Given the description of an element on the screen output the (x, y) to click on. 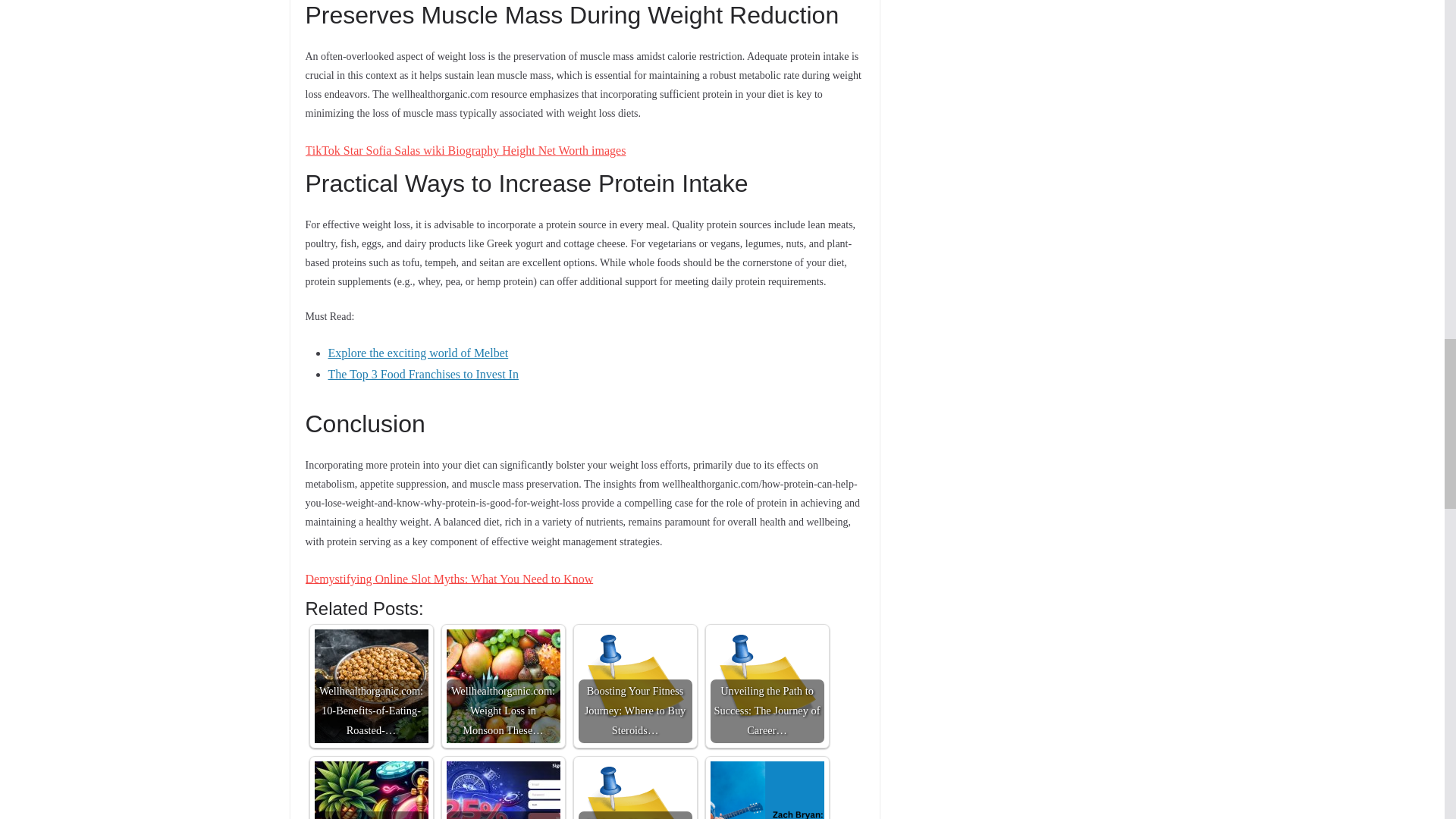
The Top 3 Food Franchises to Invest In (422, 373)
Zach Bryan: The Journey of a Troubadour (767, 790)
Demystifying Online Slot Myths: What You Need to Know (448, 577)
Explore the exciting world of Melbet (417, 352)
